Given the description of an element on the screen output the (x, y) to click on. 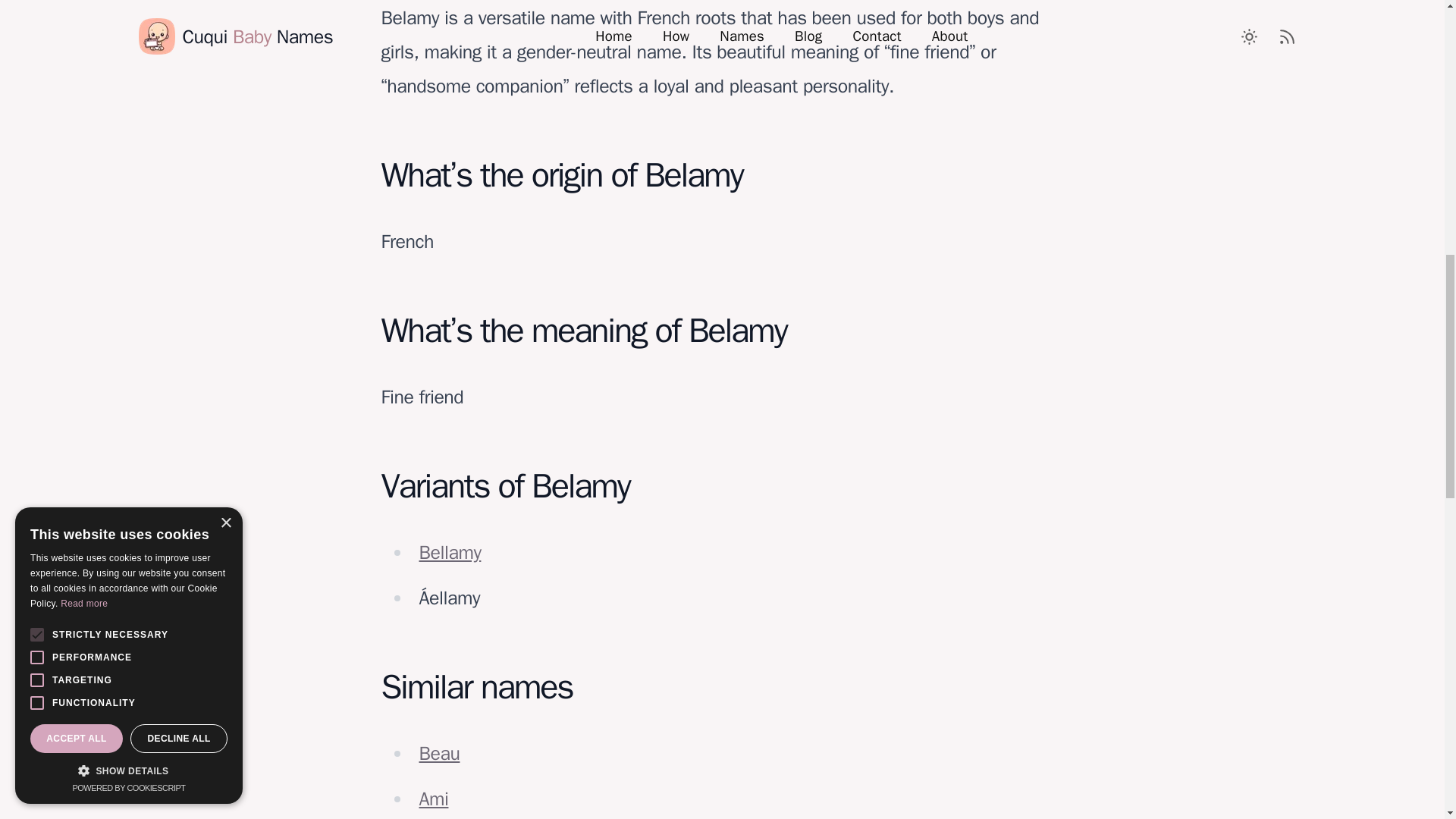
Ami (433, 798)
Beau (439, 753)
Bellamy (449, 552)
